Given the description of an element on the screen output the (x, y) to click on. 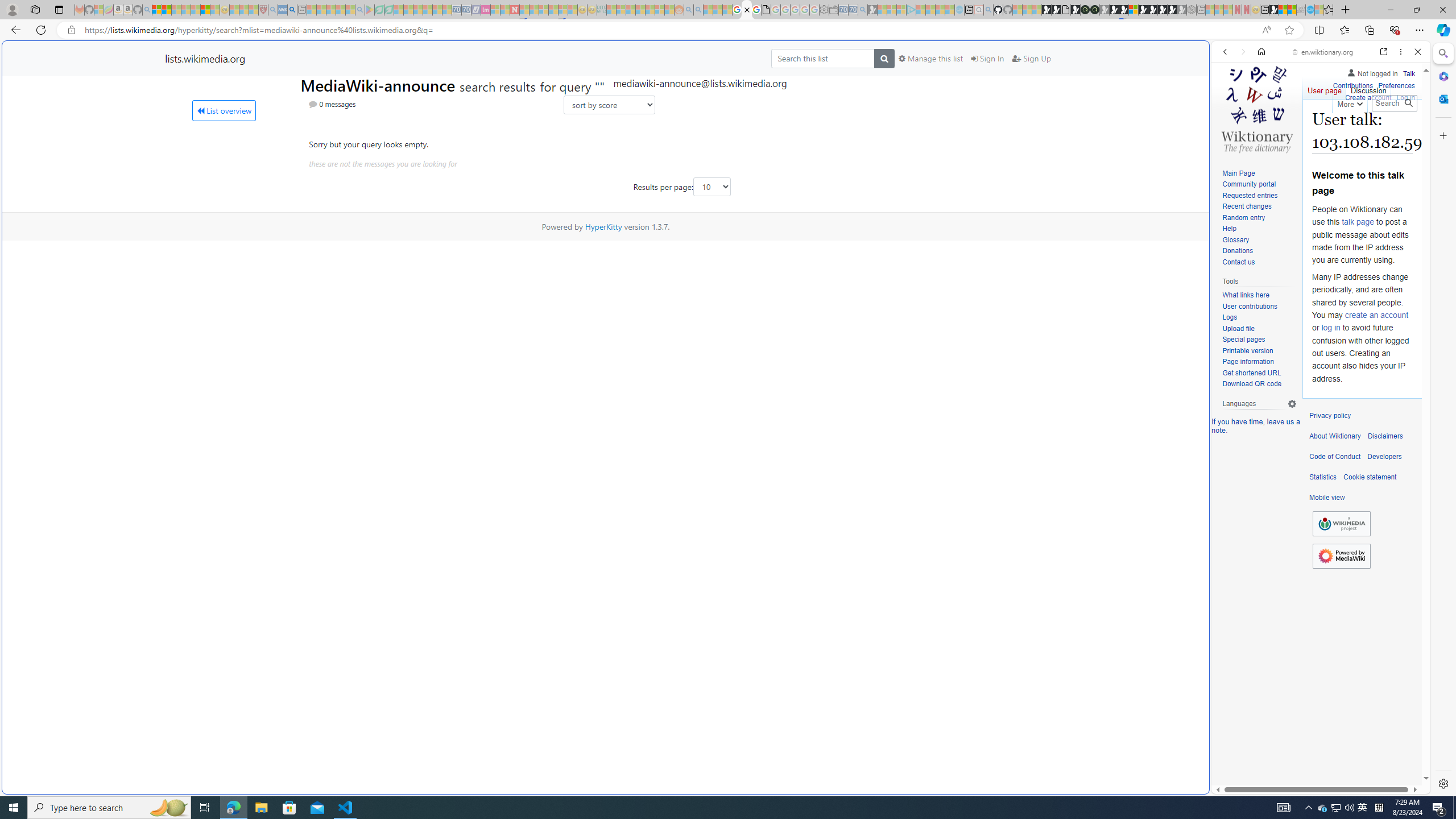
Special pages (1259, 339)
Printable version (1259, 351)
Terms of Use Agreement - Sleeping (378, 9)
Search Filter, WEB (1230, 129)
Cookie statement (1369, 477)
Logs (1259, 317)
Pets - MSN - Sleeping (340, 9)
HyperKitty (603, 226)
